Given the description of an element on the screen output the (x, y) to click on. 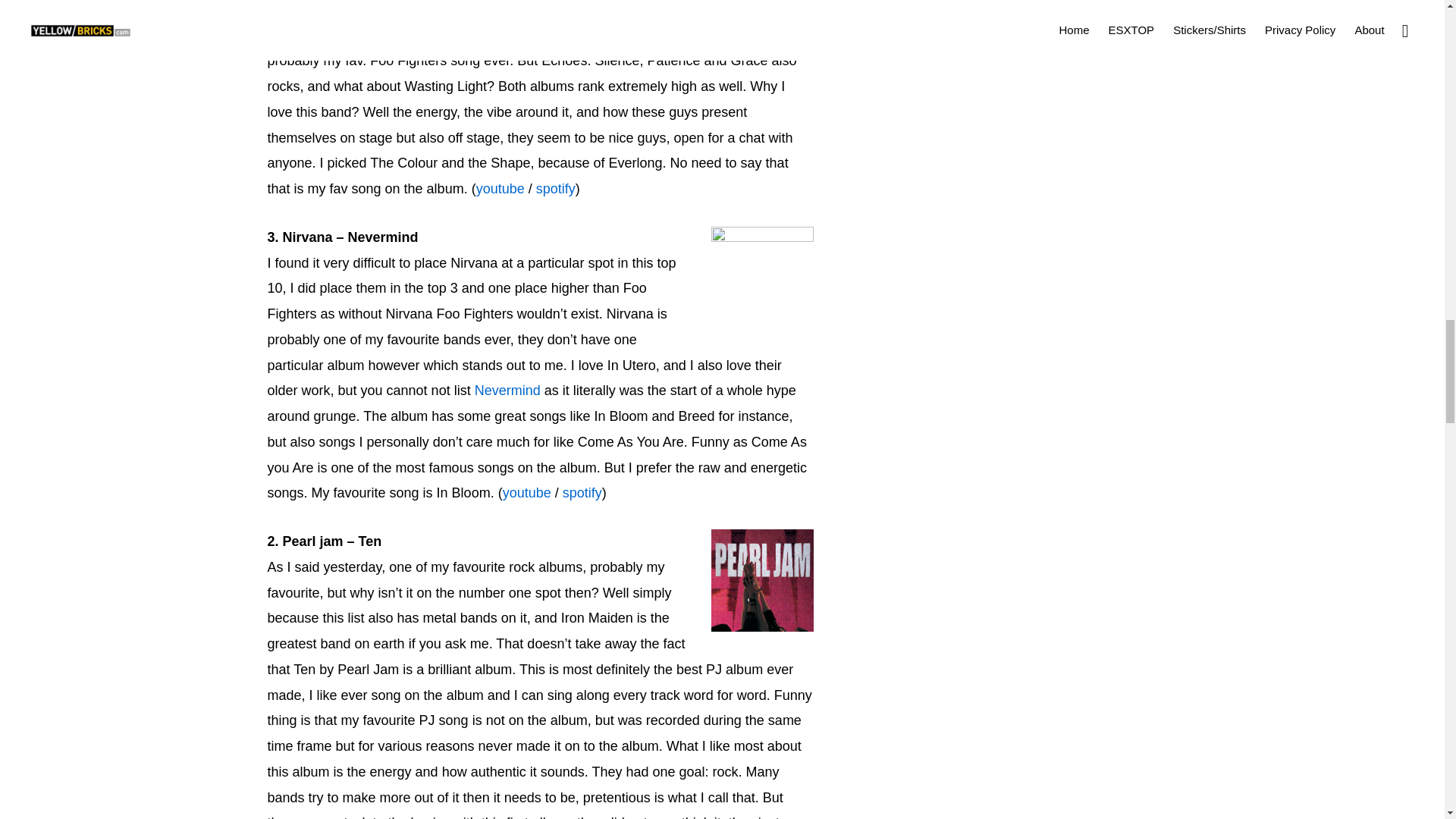
spotify (582, 492)
youtube (526, 492)
The Colour and the Shape (512, 35)
spotify (555, 188)
Nevermind (507, 390)
youtube (500, 188)
